Given the description of an element on the screen output the (x, y) to click on. 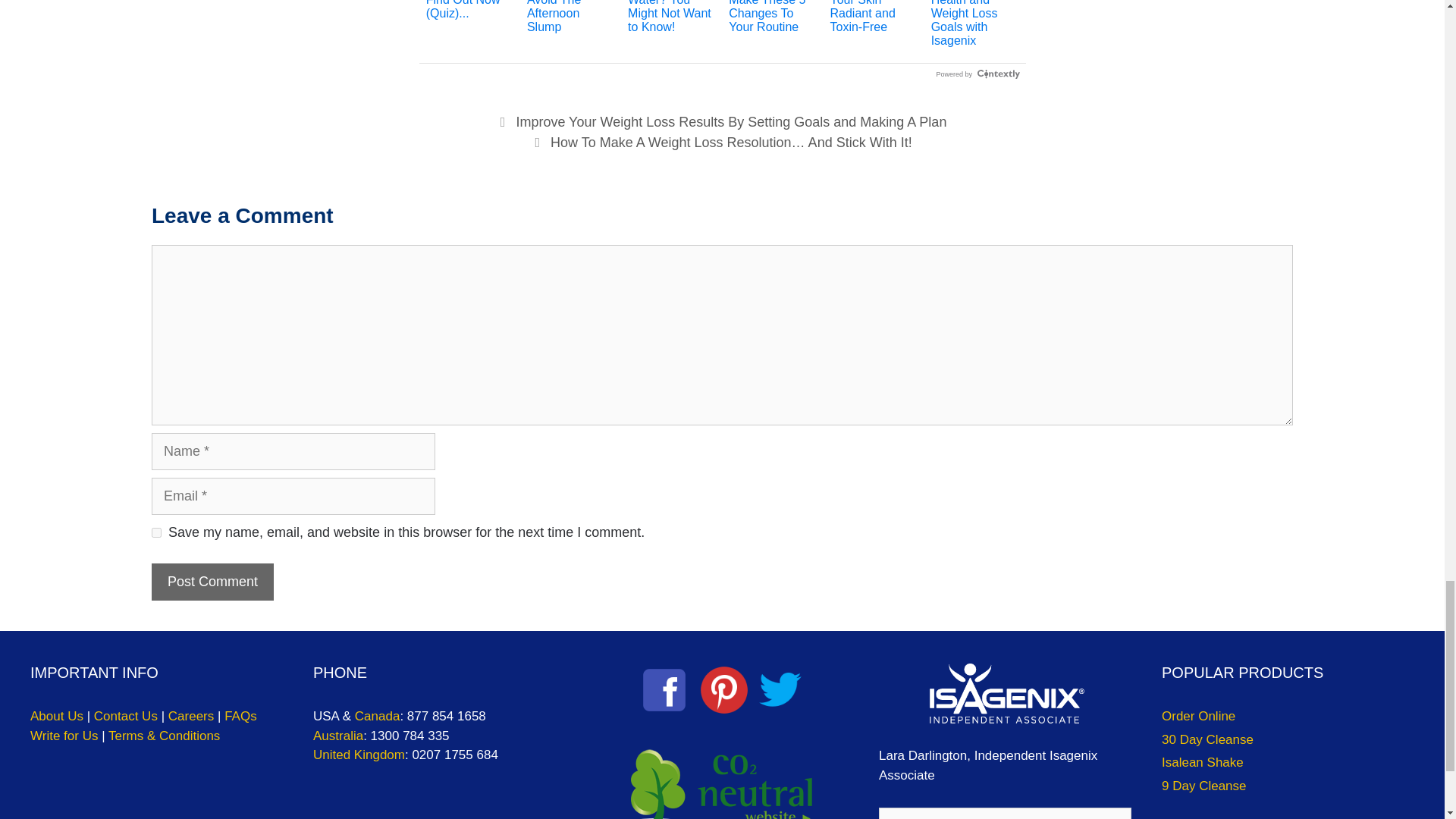
yes (156, 532)
9 Ways to Keep Your Skin Radiant and Toxin-Free (873, 17)
Detox Daily: Make These 5 Changes To Your Routine (772, 17)
10 Tips To Avoid The Afternoon Slump (570, 17)
Search for: (1005, 813)
Set Your 2019 Health and Weight Loss Goals with Isagenix (975, 23)
Post Comment (212, 581)
